Given the description of an element on the screen output the (x, y) to click on. 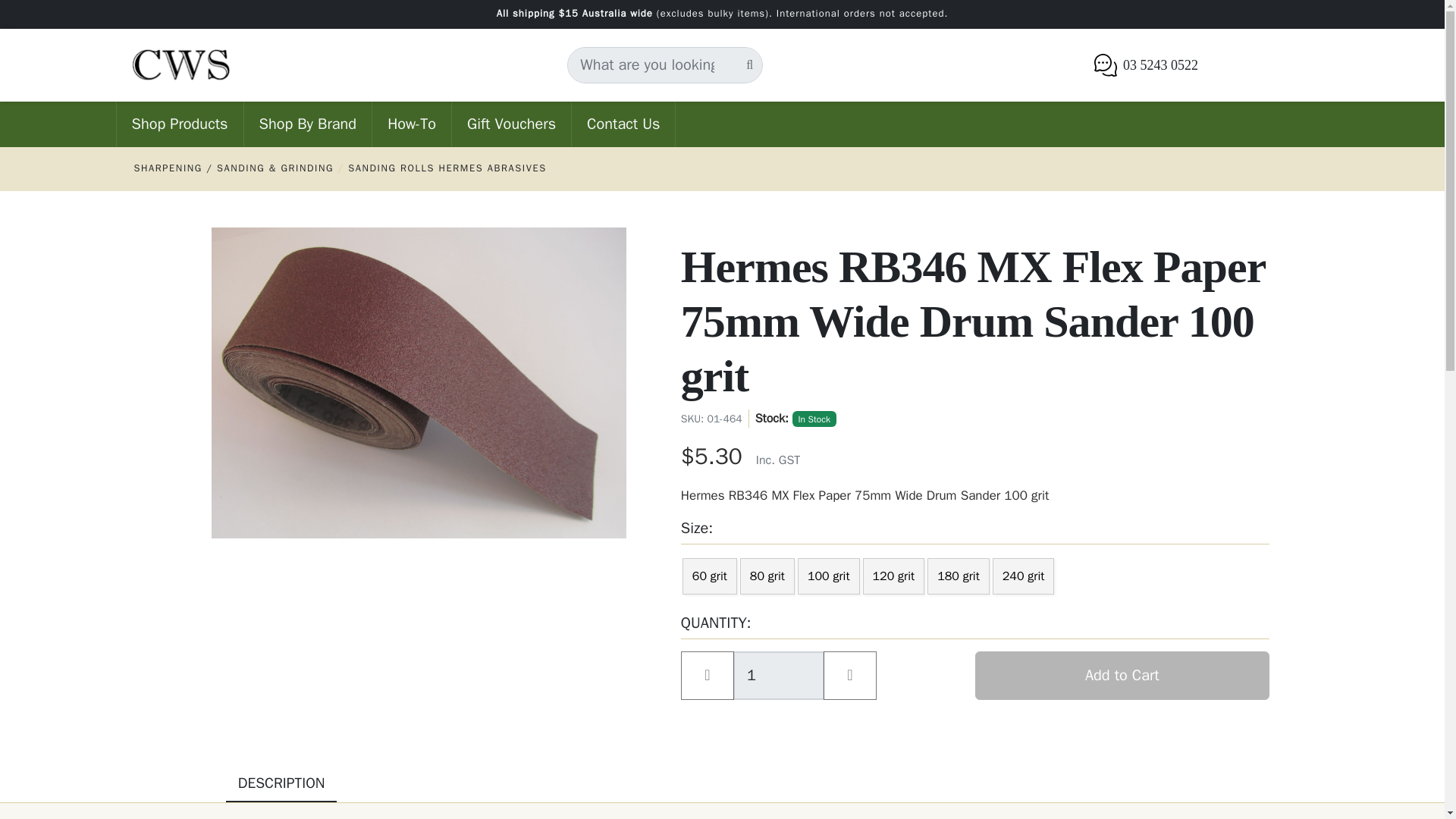
1 (778, 675)
Shop Products (179, 123)
 03 5243 0522 (1145, 65)
